Given the description of an element on the screen output the (x, y) to click on. 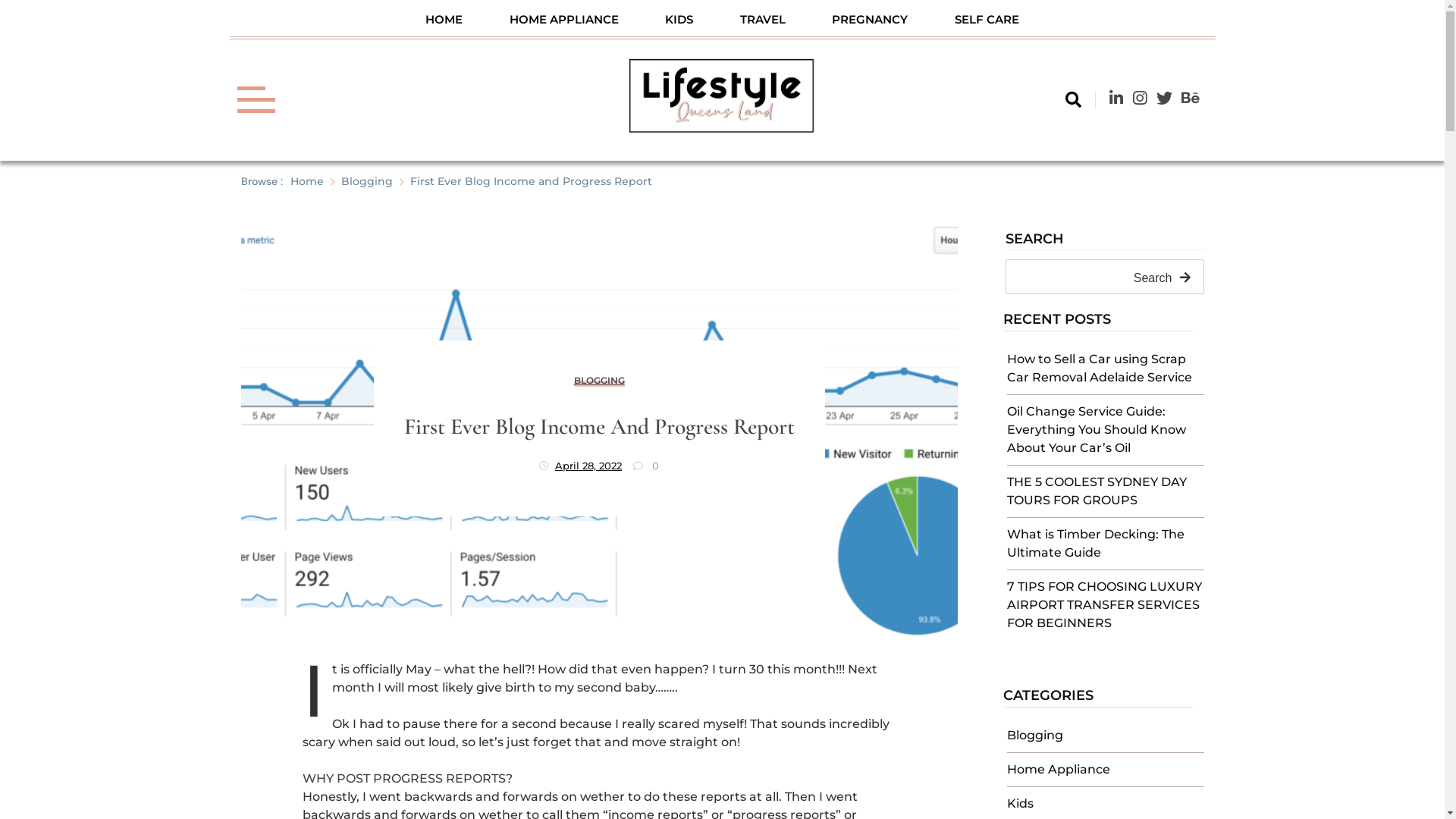
April 28, 2022 Element type: text (588, 465)
HOME Element type: text (443, 19)
SELF CARE Element type: text (986, 19)
BLOGGING Element type: text (598, 379)
What is Timber Decking: The Ultimate Guide Element type: text (1095, 542)
Lifestyle Queens Land Element type: text (580, 168)
How to Sell a Car using Scrap Car Removal Adelaide Service Element type: text (1099, 367)
Search Element type: text (1161, 275)
Kids Element type: text (1020, 803)
KIDS Element type: text (678, 19)
Blogging Element type: text (366, 181)
Blogging Element type: text (1035, 735)
Home Appliance Element type: text (1058, 768)
TRAVEL Element type: text (762, 19)
Home Element type: text (306, 181)
HOME APPLIANCE Element type: text (564, 19)
PREGNANCY Element type: text (869, 19)
THE 5 COOLEST SYDNEY DAY TOURS FOR GROUPS Element type: text (1096, 490)
